Given the description of an element on the screen output the (x, y) to click on. 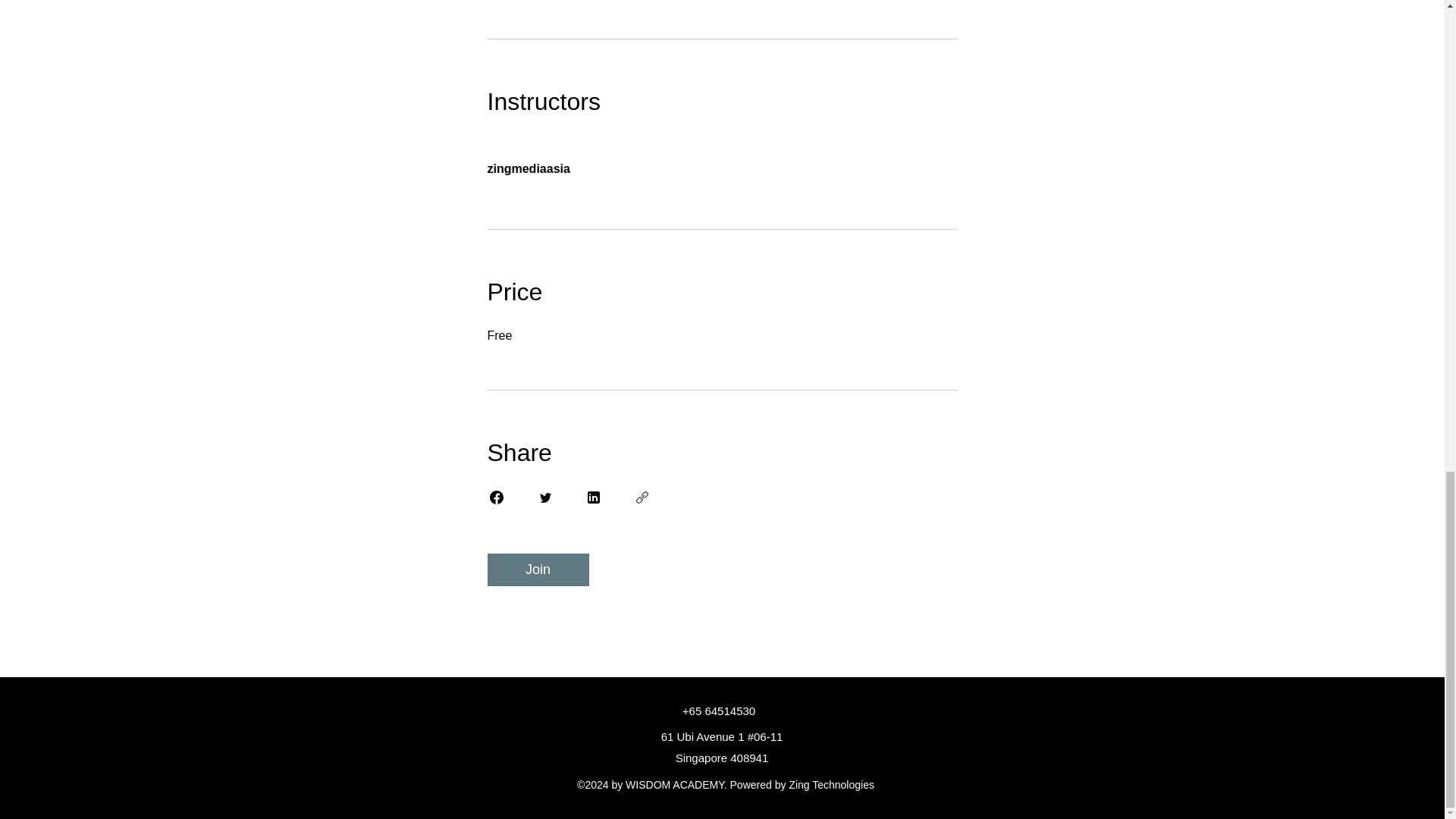
Join (537, 569)
zingmediaasia (721, 160)
